Given the description of an element on the screen output the (x, y) to click on. 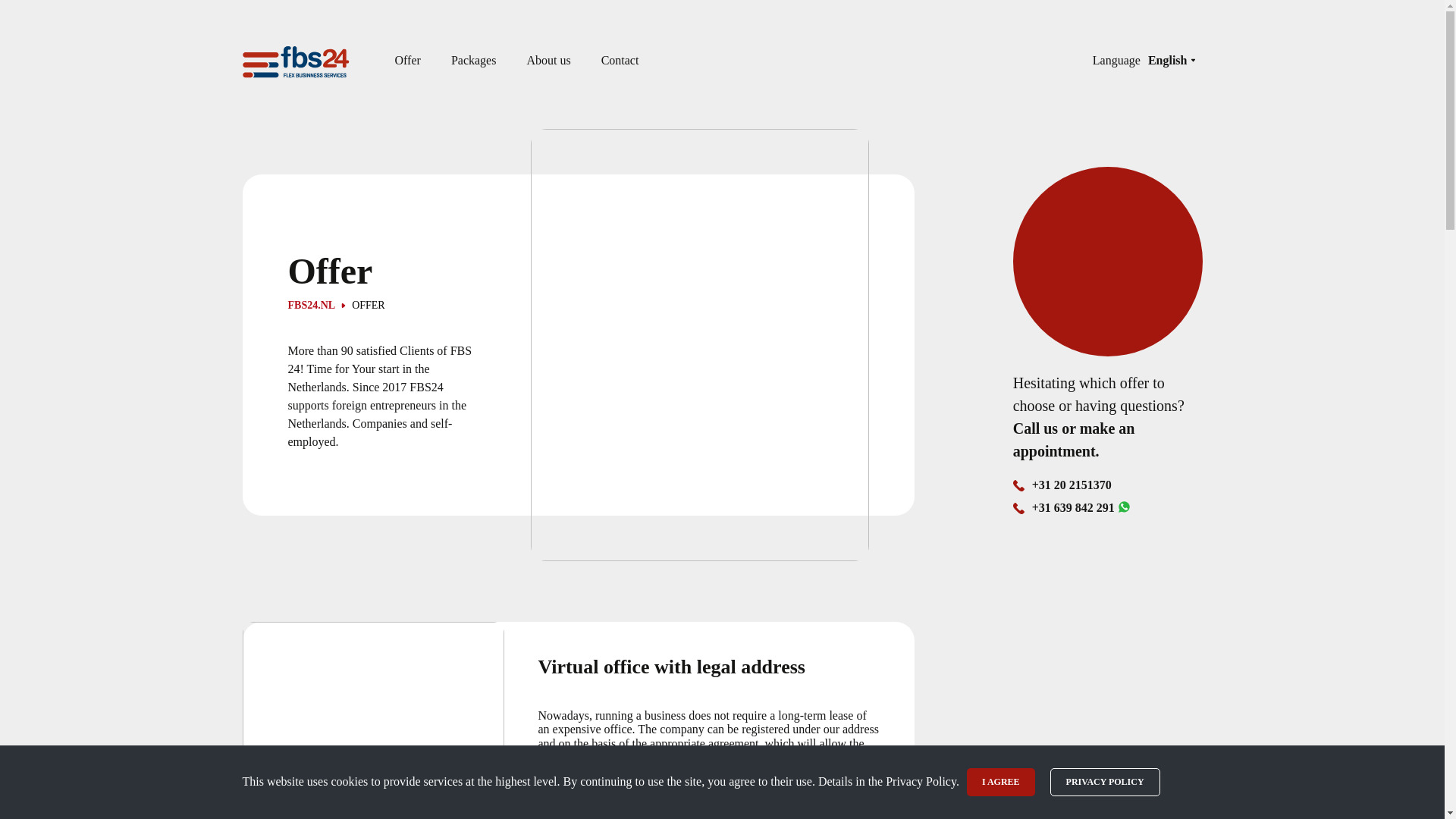
Packages (473, 60)
FBS24.NL (312, 305)
Contact (620, 60)
English (1171, 60)
OFFER (362, 305)
Offer (407, 60)
About us (547, 60)
SHOW PACKAGES (600, 812)
PRIVACY POLICY (1104, 782)
I AGREE (1000, 782)
